Given the description of an element on the screen output the (x, y) to click on. 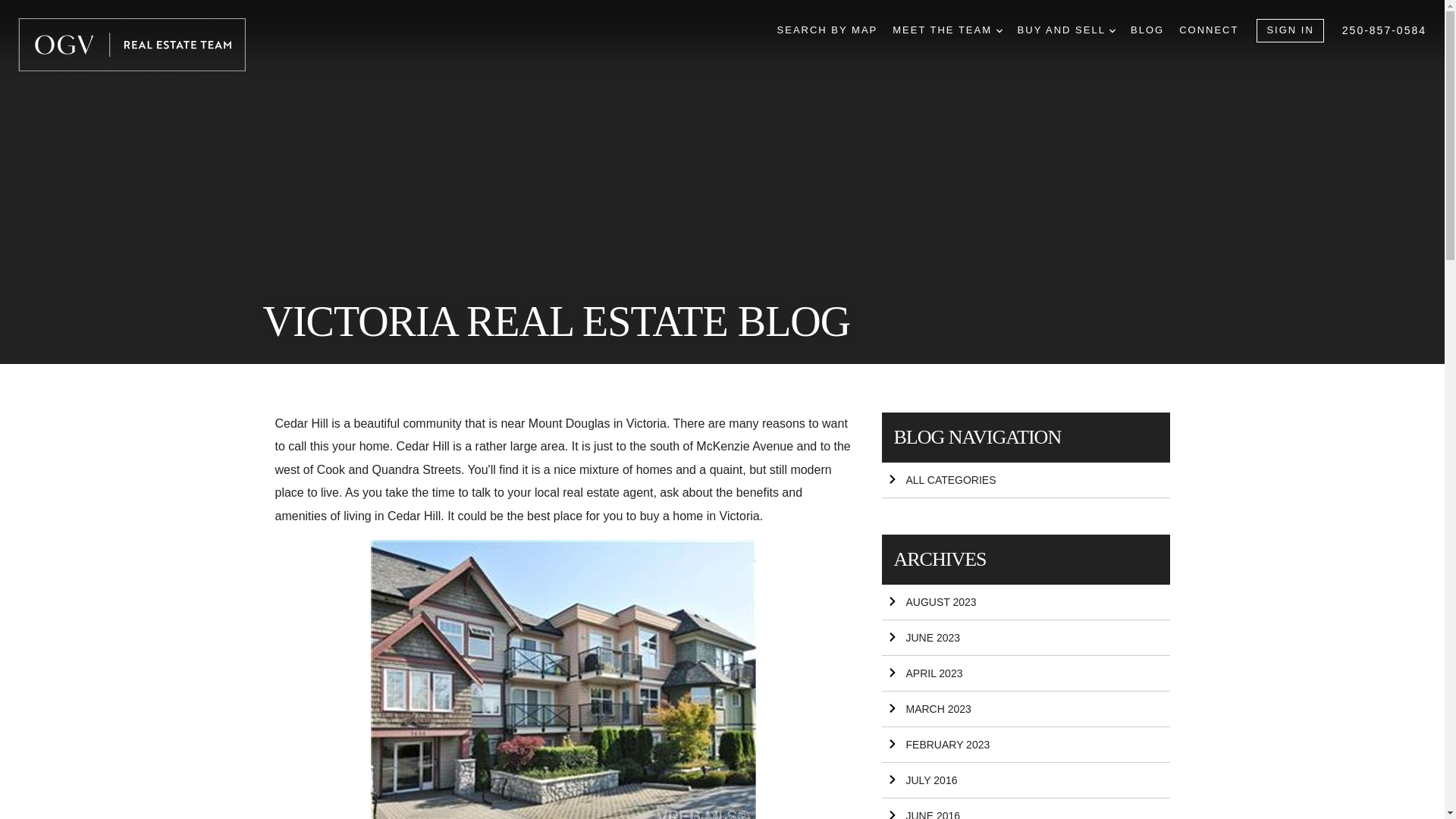
BUY AND SELL DROPDOWN ARROW (1066, 30)
DROPDOWN ARROW (999, 30)
250-857-0584 (1384, 29)
APRIL 2023 (1024, 673)
AUGUST 2023 (1024, 601)
JUNE 2023 (1024, 637)
ALL CATEGORIES (1024, 479)
SEARCH BY MAP (827, 30)
CONNECT (1209, 30)
MARCH 2023 (1024, 709)
